Given the description of an element on the screen output the (x, y) to click on. 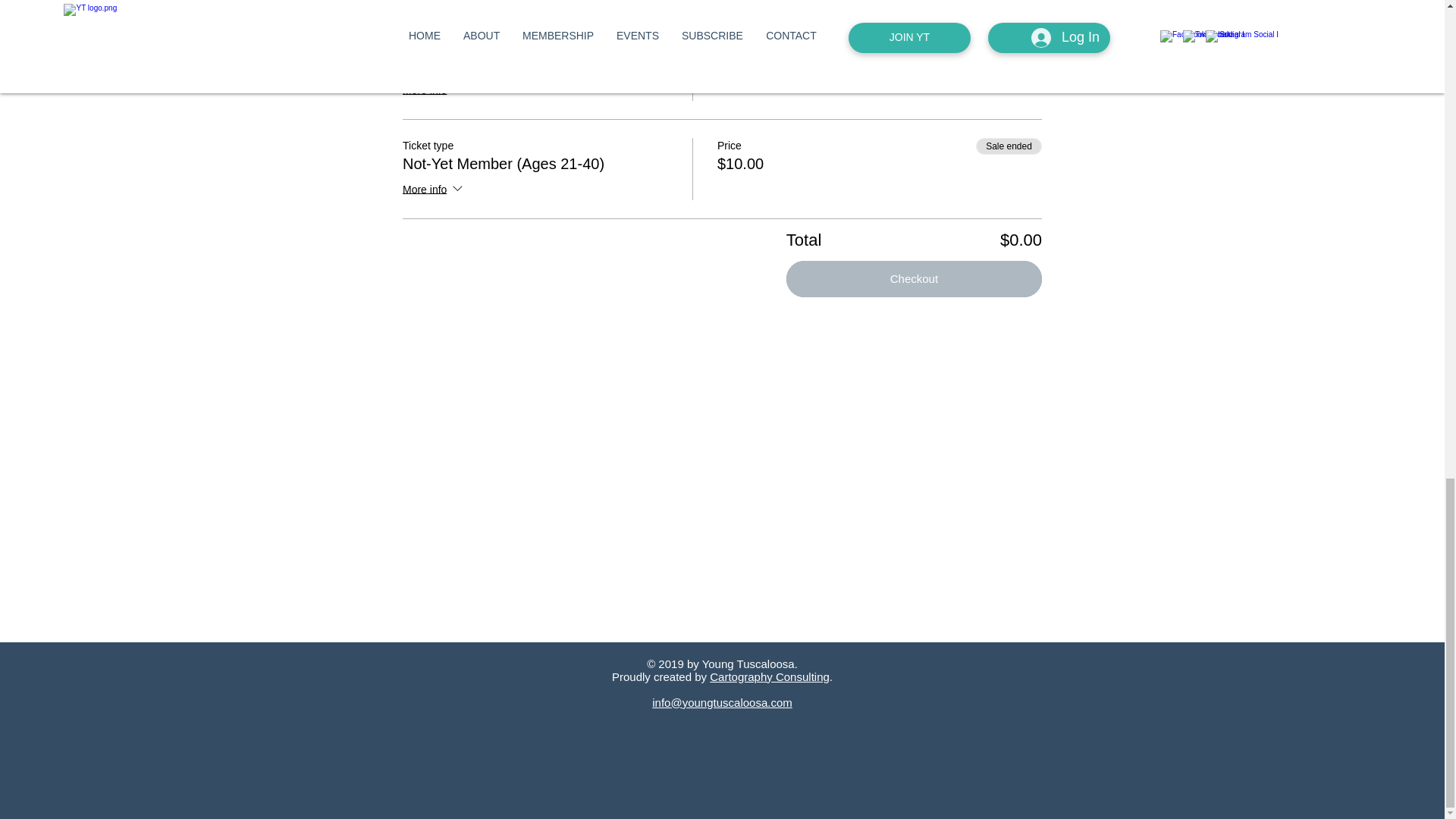
Checkout (914, 279)
More info (434, 90)
More info (434, 189)
Cartography Consulting (769, 676)
